Given the description of an element on the screen output the (x, y) to click on. 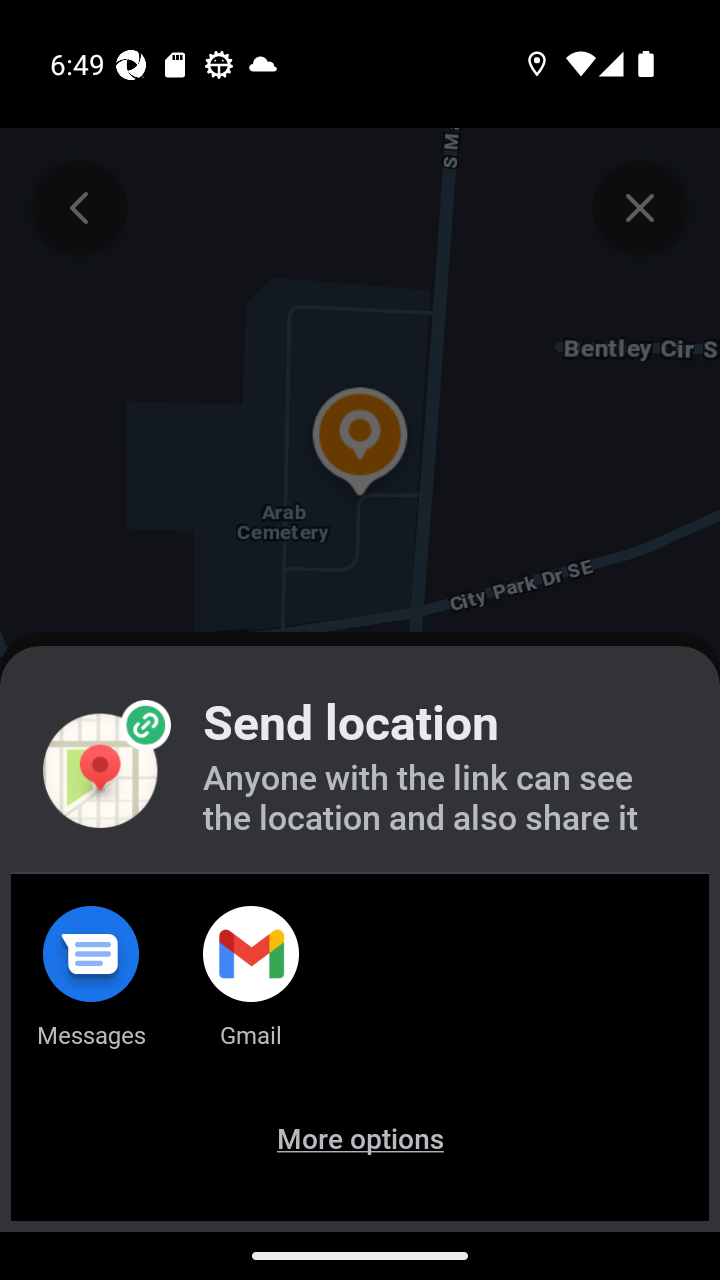
Messages (90, 992)
Gmail (251, 992)
More options (359, 1166)
